Given the description of an element on the screen output the (x, y) to click on. 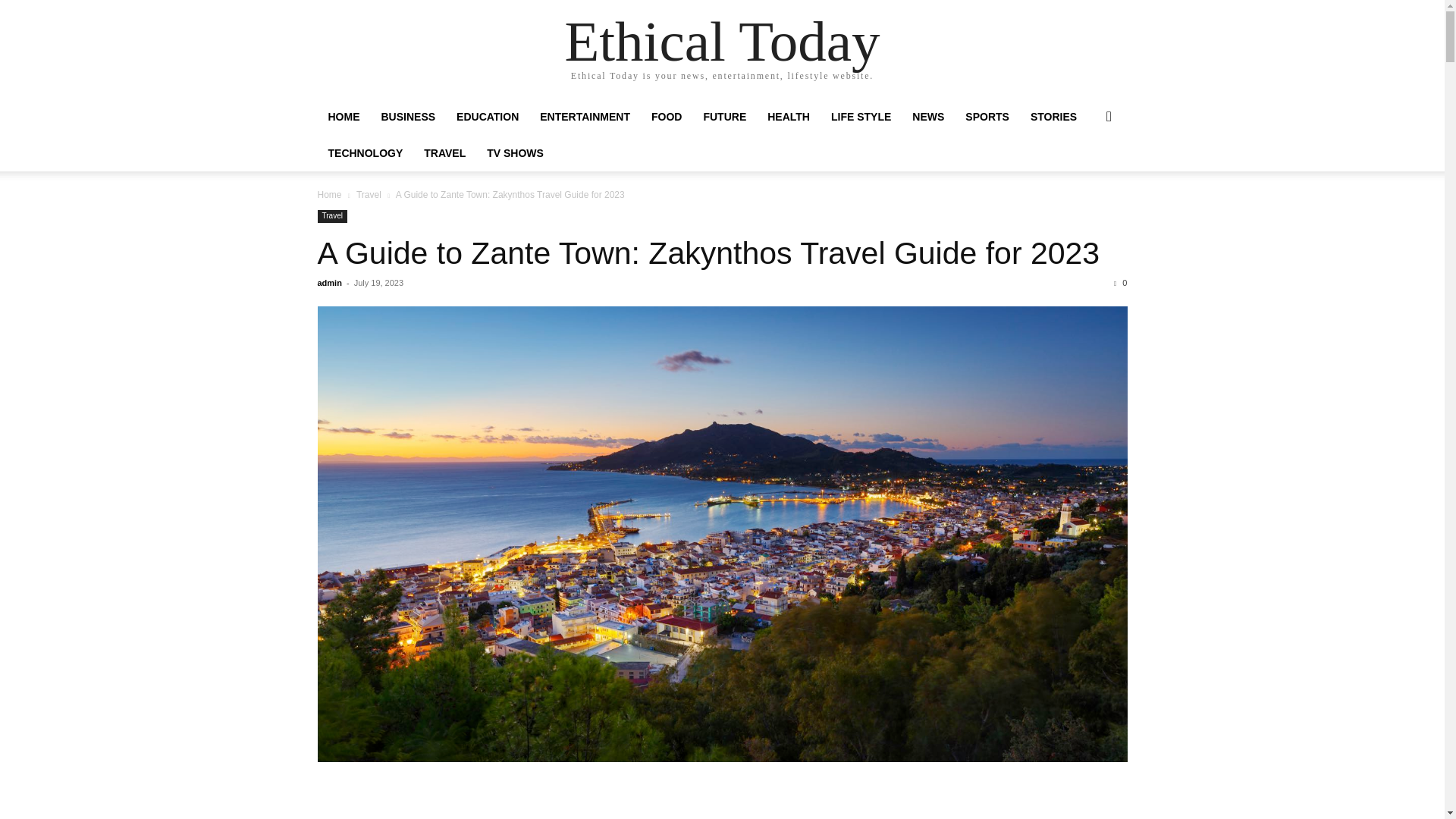
Travel (331, 215)
BUSINESS (407, 116)
A Guide to Zante Town: Zakynthos Travel Guide for 2023 (708, 253)
STORIES (1053, 116)
TV SHOWS (515, 152)
Ethical Today (721, 41)
TECHNOLOGY (365, 152)
TRAVEL (444, 152)
SPORTS (987, 116)
LIFE STYLE (861, 116)
View all posts in Travel (368, 194)
HEALTH (789, 116)
ENTERTAINMENT (584, 116)
HOME (343, 116)
FUTURE (725, 116)
